Given the description of an element on the screen output the (x, y) to click on. 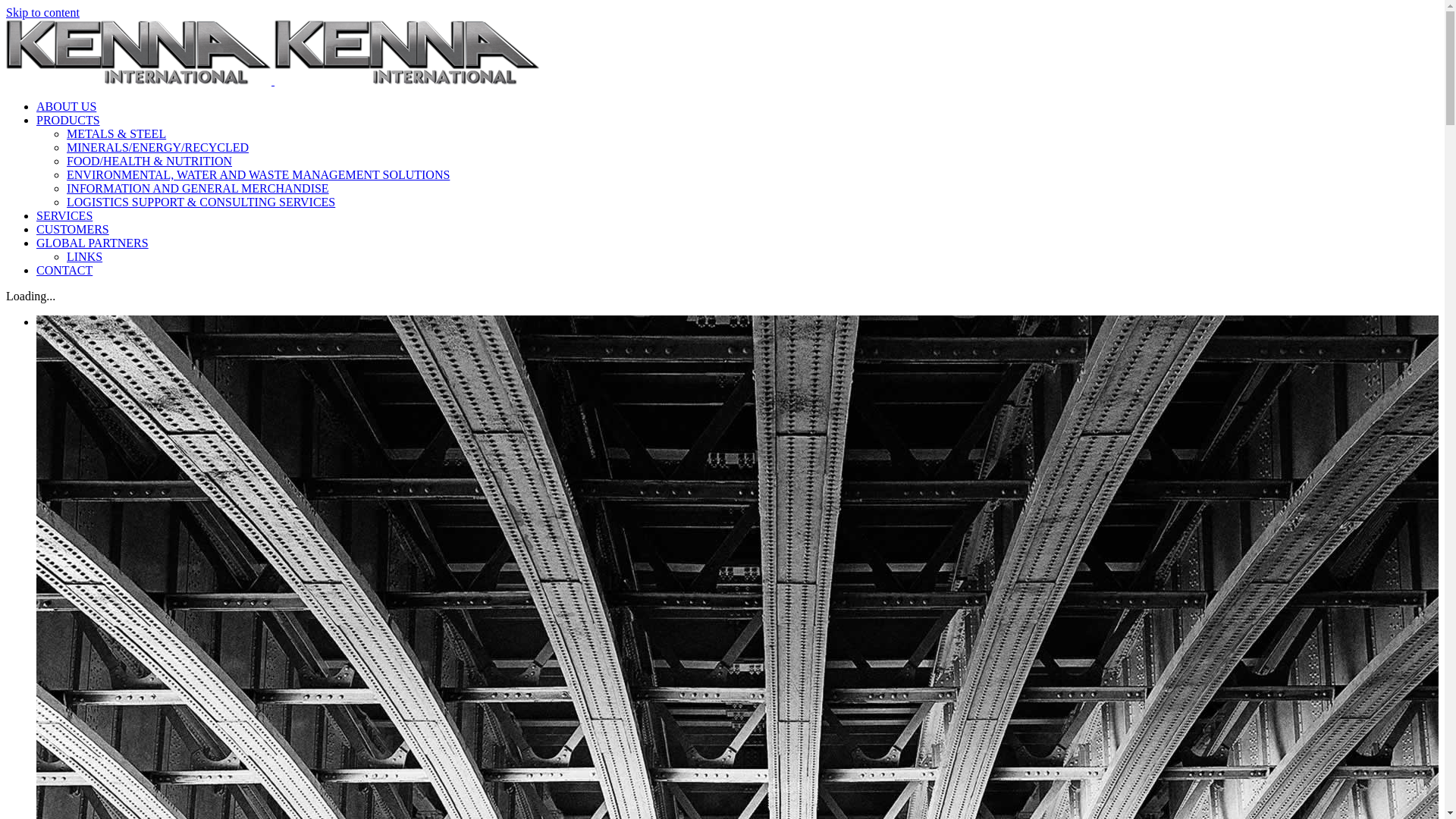
CONTACT Element type: text (64, 269)
ABOUT US Element type: text (66, 106)
ENVIRONMENTAL, WATER AND WASTE MANAGEMENT SOLUTIONS Element type: text (257, 174)
CUSTOMERS Element type: text (72, 228)
LINKS Element type: text (84, 256)
INFORMATION AND GENERAL MERCHANDISE Element type: text (197, 188)
FOOD/HEALTH & NUTRITION Element type: text (149, 160)
GLOBAL PARTNERS Element type: text (92, 242)
PRODUCTS Element type: text (68, 119)
METALS & STEEL Element type: text (116, 133)
MINERALS/ENERGY/RECYCLED Element type: text (157, 147)
LOGISTICS SUPPORT & CONSULTING SERVICES Element type: text (200, 201)
Skip to content Element type: text (42, 12)
SERVICES Element type: text (64, 215)
